Given the description of an element on the screen output the (x, y) to click on. 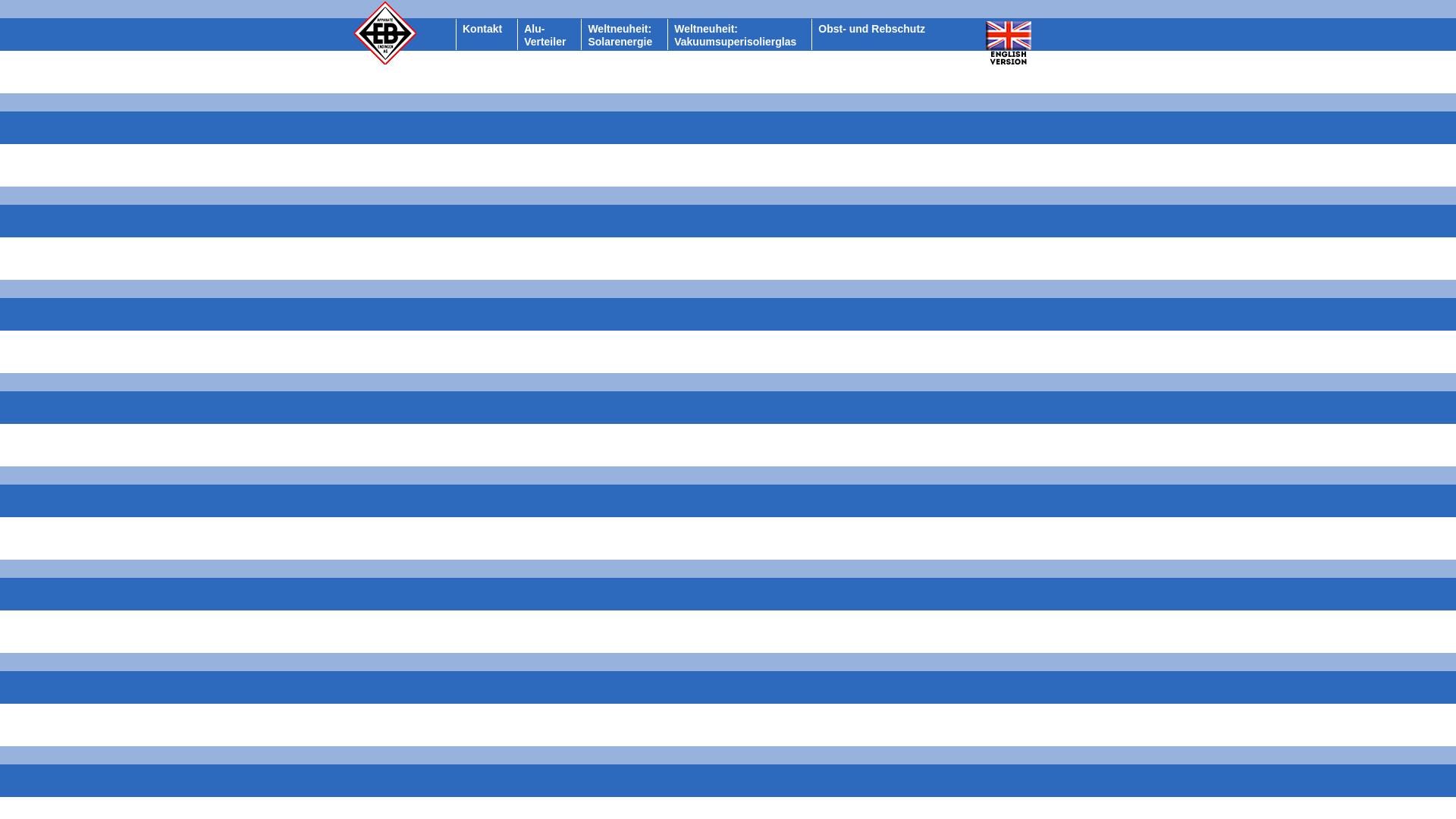
Obst- und Rebschutz Element type: text (871, 28)
Kontakt Element type: text (482, 28)
Weltneuheit:
Vakuumsuperisolierglas Element type: text (735, 34)
Alu-
Verteiler Element type: text (544, 34)
Weltneuheit:
Solarenergie Element type: text (619, 34)
